Given the description of an element on the screen output the (x, y) to click on. 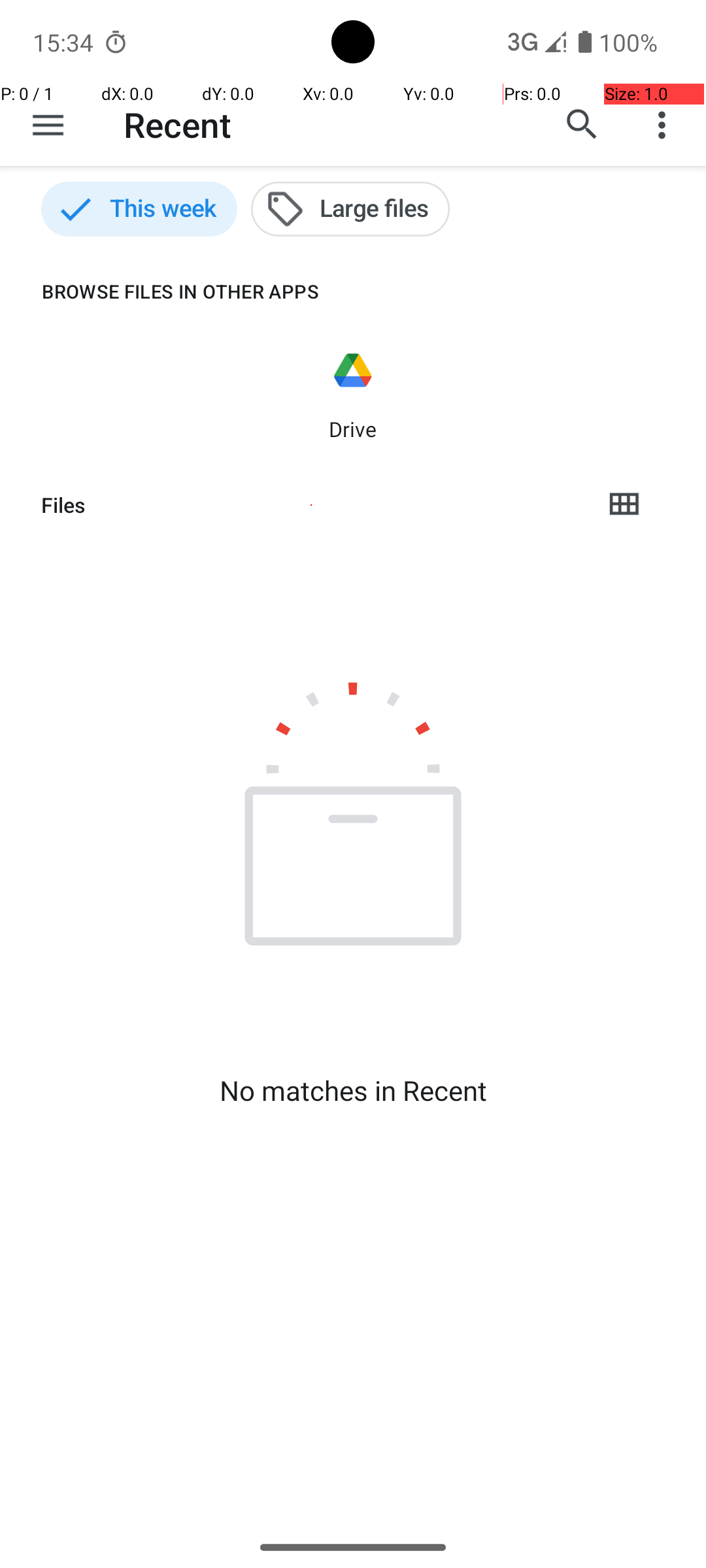
BROWSE FILES IN OTHER APPS Element type: android.widget.TextView (159, 291)
No matches in Recent Element type: android.widget.TextView (353, 1089)
Drive Element type: android.widget.TextView (352, 428)
